Given the description of an element on the screen output the (x, y) to click on. 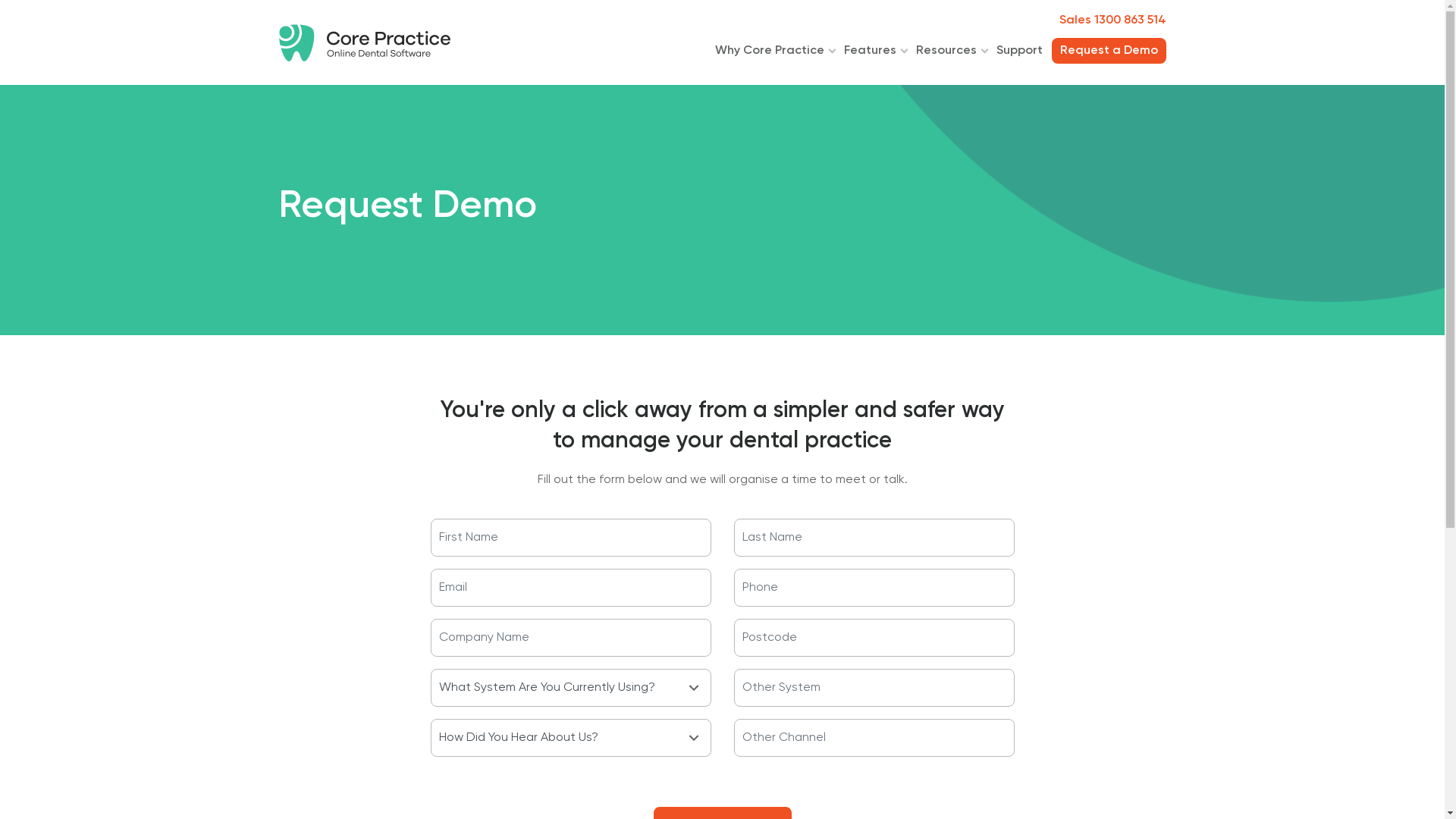
Request a Demo Element type: text (1108, 50)
Support Element type: text (1019, 50)
Resources Element type: text (946, 50)
Why Core Practice Element type: text (768, 50)
Features Element type: text (869, 50)
